Given the description of an element on the screen output the (x, y) to click on. 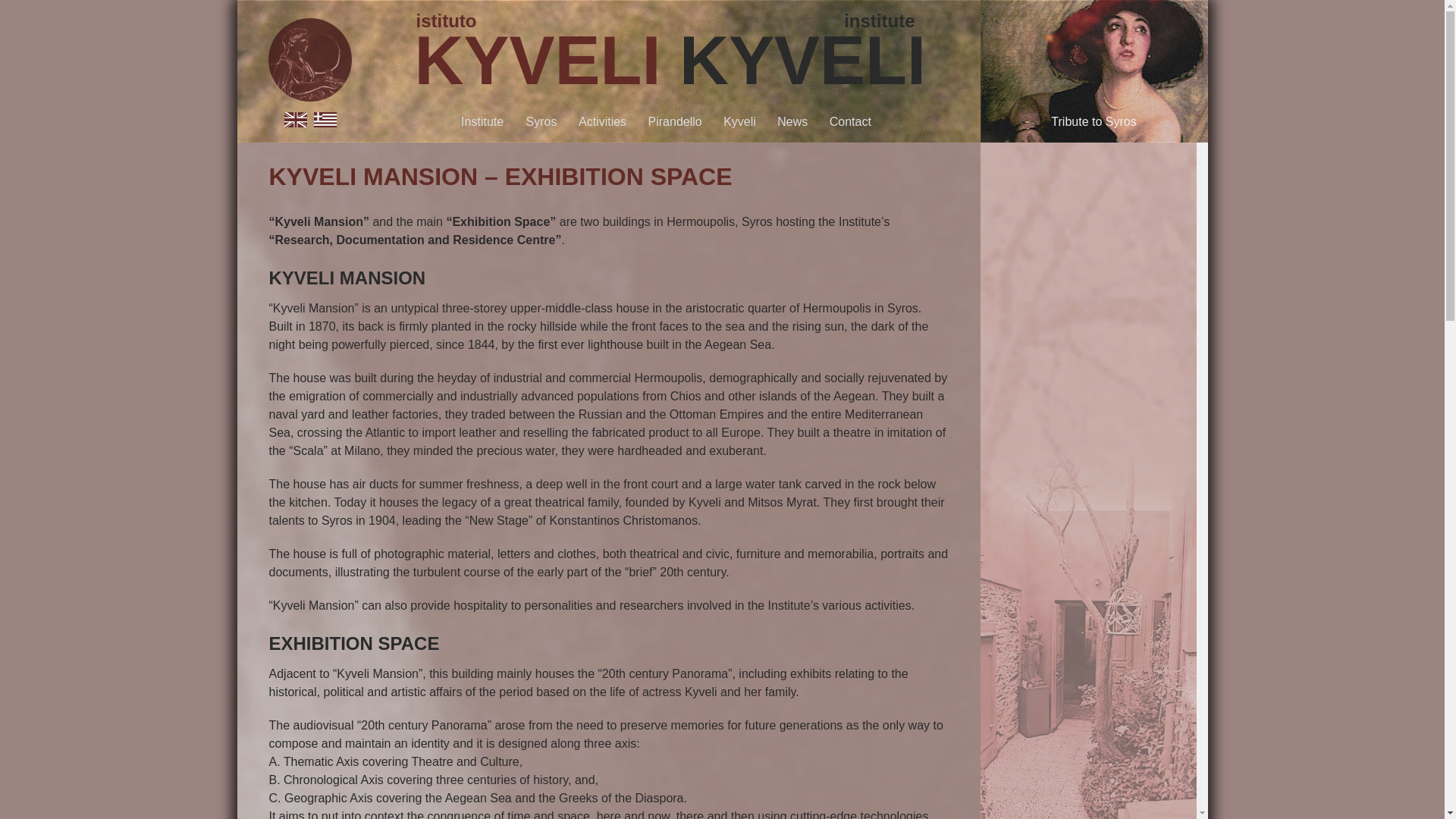
Kyveli (739, 121)
Pirandello (674, 121)
News (792, 121)
English (294, 123)
Institute (482, 121)
Activities (602, 121)
Tribute to Syros (1093, 121)
Kyveli Institute (309, 94)
Contact (849, 121)
Syros (541, 121)
Tribute to Syros (1093, 121)
